Given the description of an element on the screen output the (x, y) to click on. 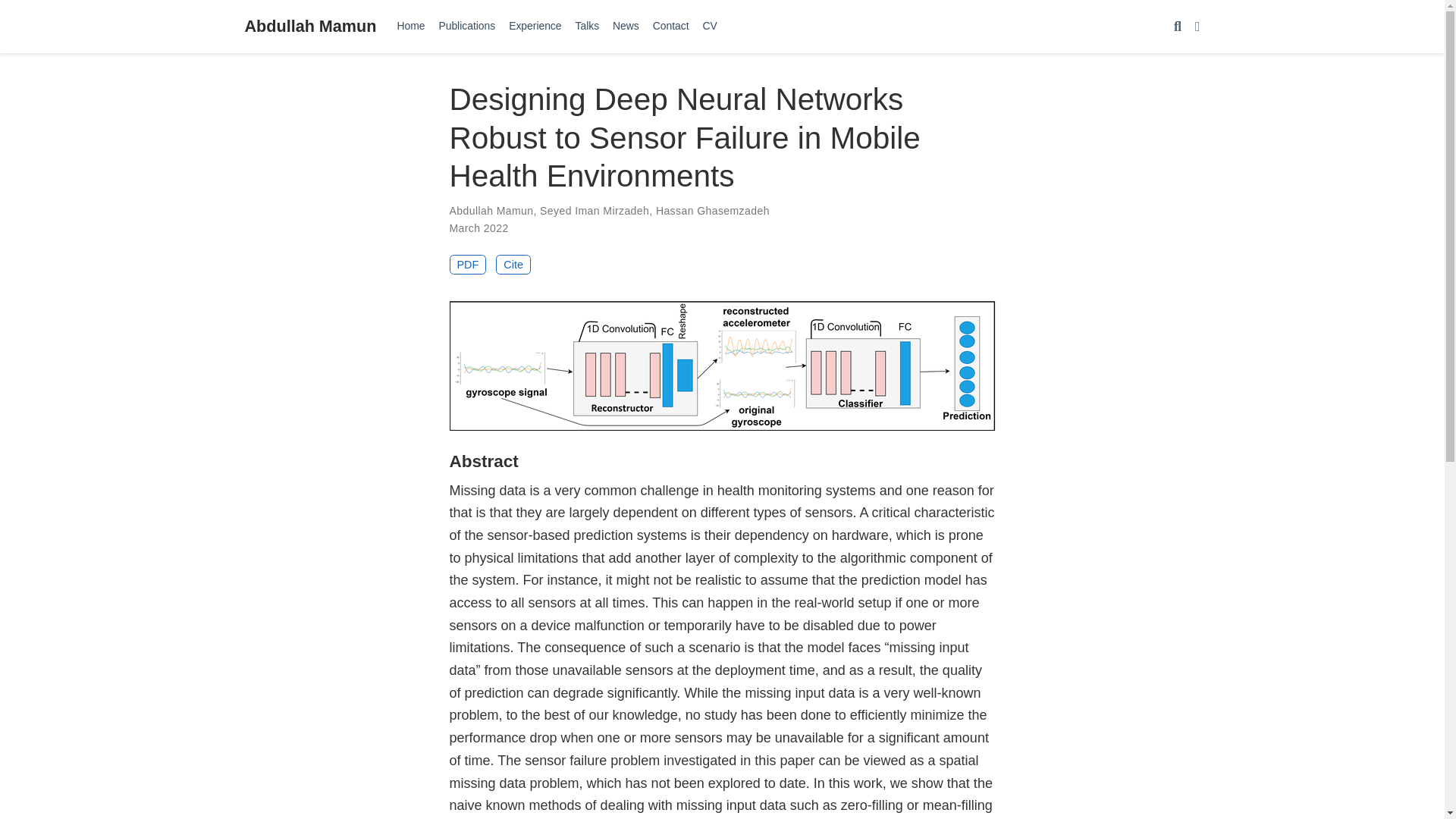
Publications (466, 26)
Experience (534, 26)
Abdullah Mamun (309, 26)
CV (709, 26)
Home (410, 26)
Contact (670, 26)
Talks (588, 26)
PDF (467, 264)
News (625, 26)
Cite (513, 264)
